Given the description of an element on the screen output the (x, y) to click on. 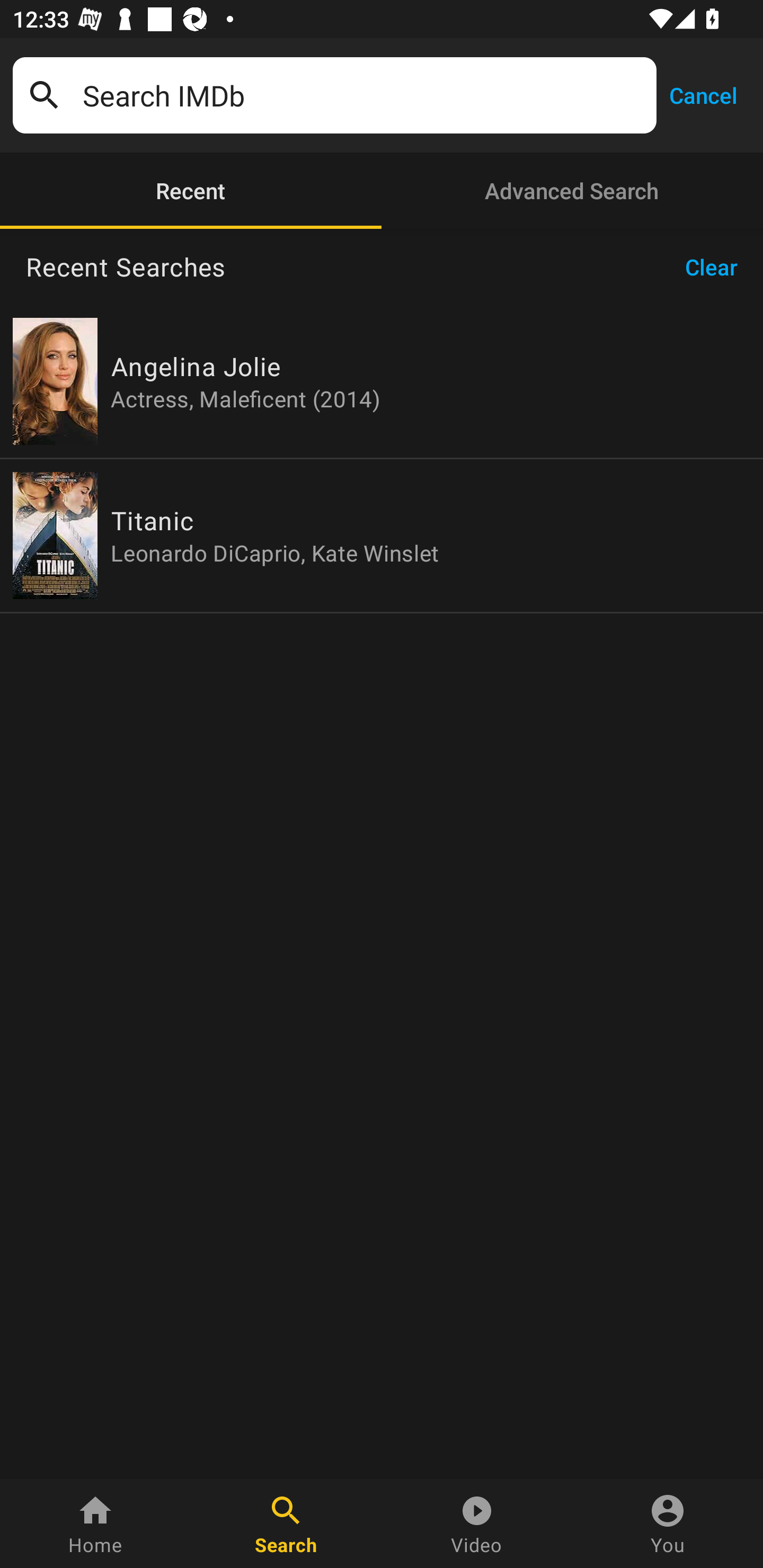
Cancel (703, 94)
Search IMDb (363, 95)
Advanced Search (572, 190)
Clear (717, 266)
Angelina Jolie Actress, Maleficent (2014) (381, 381)
Titanic Leonardo DiCaprio, Kate Winslet (381, 535)
Home (95, 1523)
Video (476, 1523)
You (667, 1523)
